Given the description of an element on the screen output the (x, y) to click on. 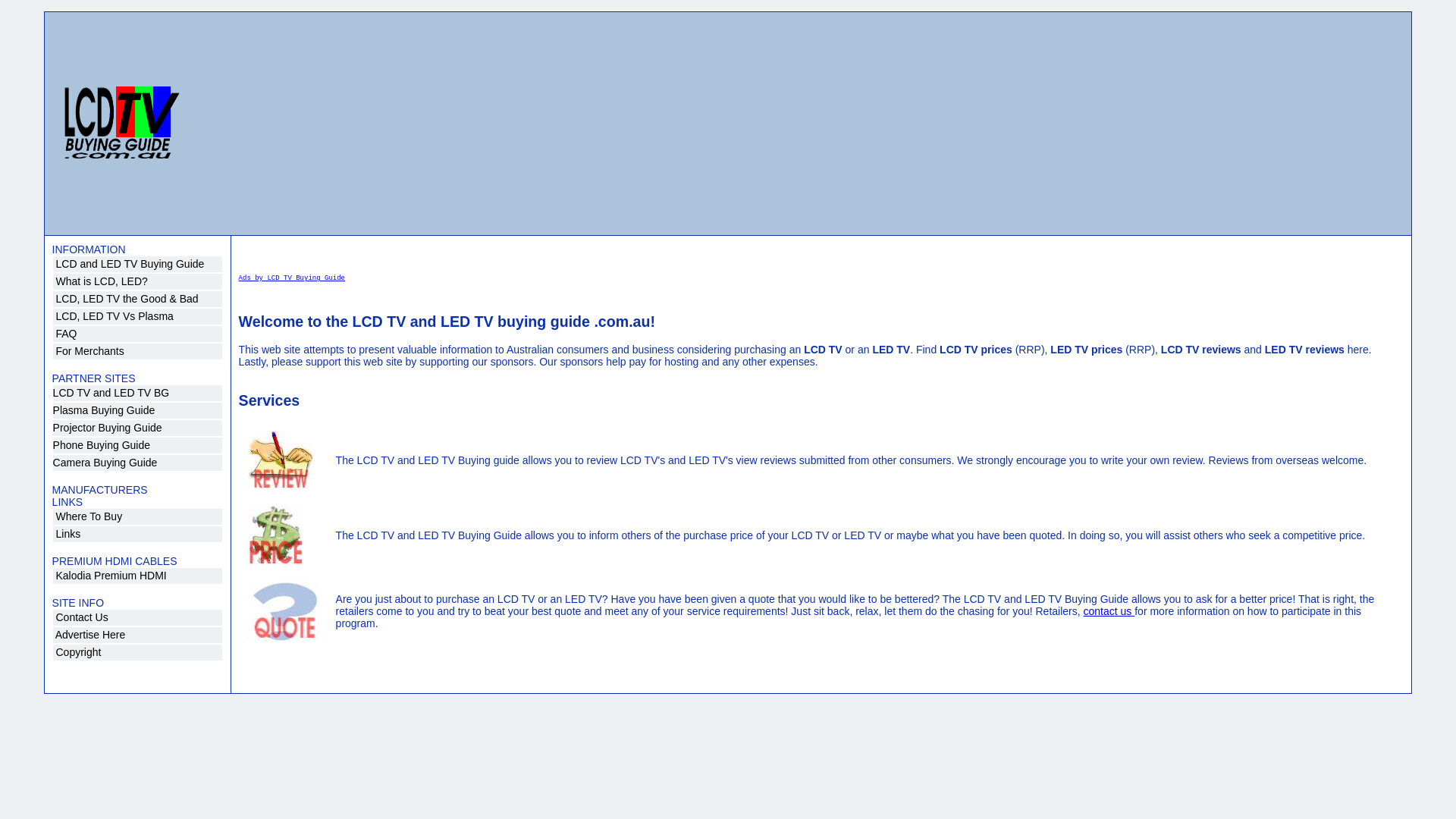
Plasma Buying Guide Element type: text (137, 410)
 Advertise Here Element type: text (137, 634)
 LCD, LED TV Vs Plasma Element type: text (137, 316)
contact us Element type: text (1109, 611)
 Where To Buy Element type: text (137, 516)
Ads by LCD TV Buying Guide Element type: text (821, 287)
 Links Element type: text (137, 533)
 Copyright Element type: text (137, 652)
 For Merchants Element type: text (137, 351)
Projector Buying Guide Element type: text (137, 427)
 Contact Us Element type: text (137, 617)
 FAQ Element type: text (137, 333)
 Kalodia Premium HDMI Element type: text (137, 575)
 LCD, LED TV the Good & Bad Element type: text (137, 298)
Advertisement Element type: hover (943, 123)
 What is LCD, LED? Element type: text (137, 281)
Phone Buying Guide Element type: text (137, 445)
Camera Buying Guide Element type: text (137, 462)
LCD TV and LED TV BG Element type: text (137, 392)
 LCD and LED TV Buying Guide Element type: text (137, 264)
Advertisement Element type: hover (698, 123)
